Given the description of an element on the screen output the (x, y) to click on. 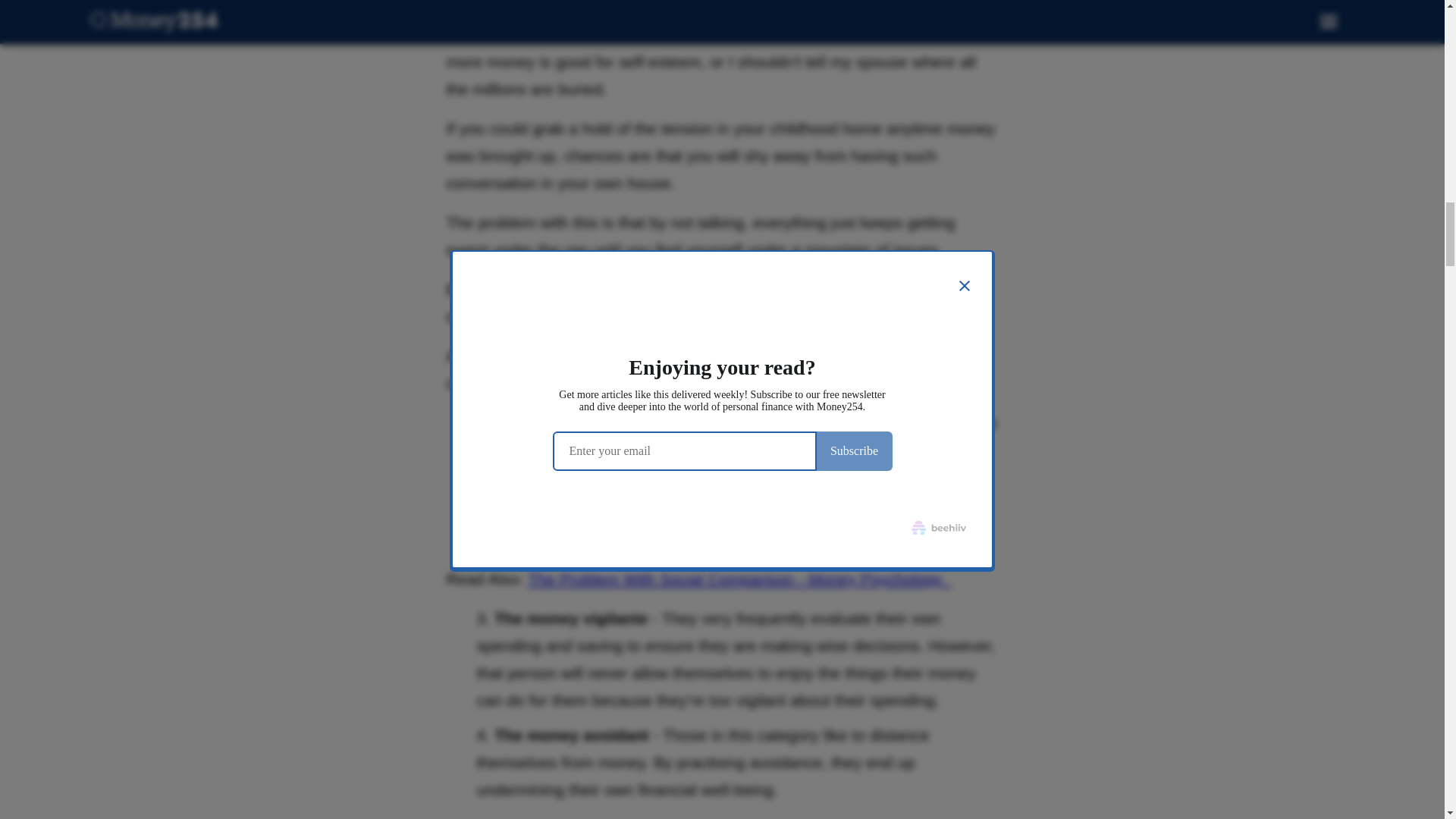
The Problem With Social Comparison - Money Psychology   (738, 579)
